Given the description of an element on the screen output the (x, y) to click on. 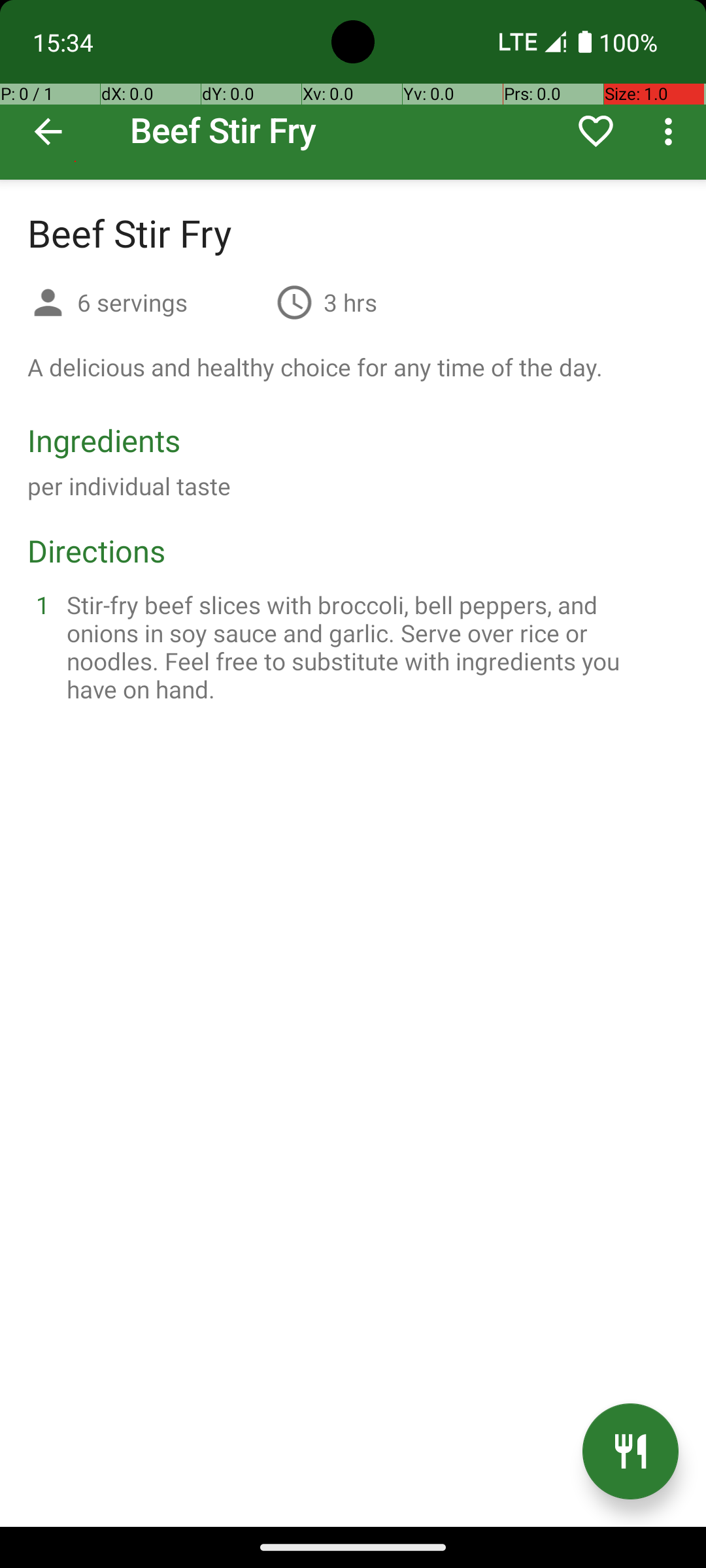
Stir-fry beef slices with broccoli, bell peppers, and onions in soy sauce and garlic. Serve over rice or noodles. Feel free to substitute with ingredients you have on hand. Element type: android.widget.TextView (368, 646)
